Given the description of an element on the screen output the (x, y) to click on. 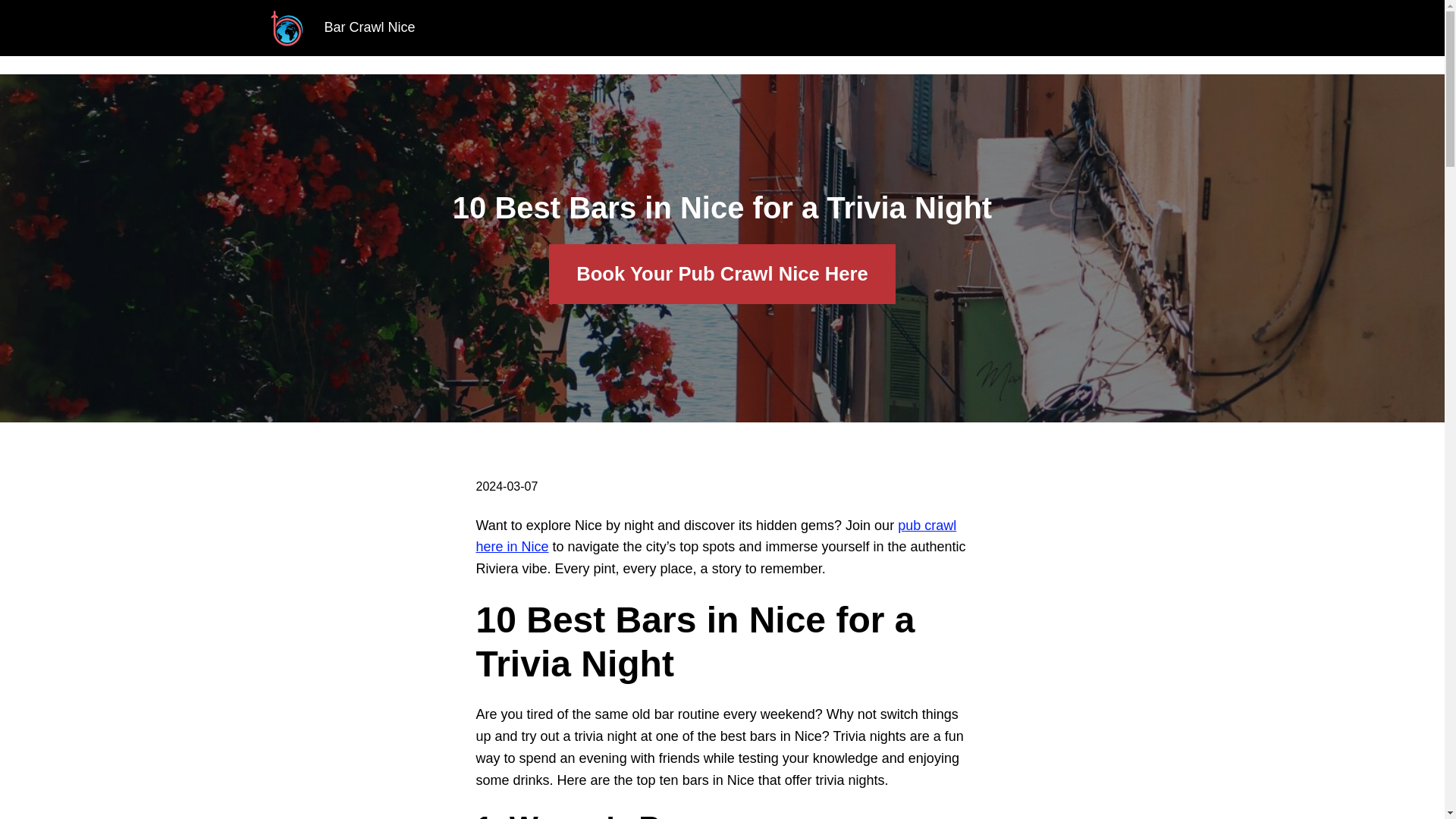
Bar Crawl Nice (369, 27)
Booking (753, 27)
Cart (818, 27)
Book Your Pub Crawl Nice Here (721, 273)
pub crawl here in Nice (716, 536)
